Given the description of an element on the screen output the (x, y) to click on. 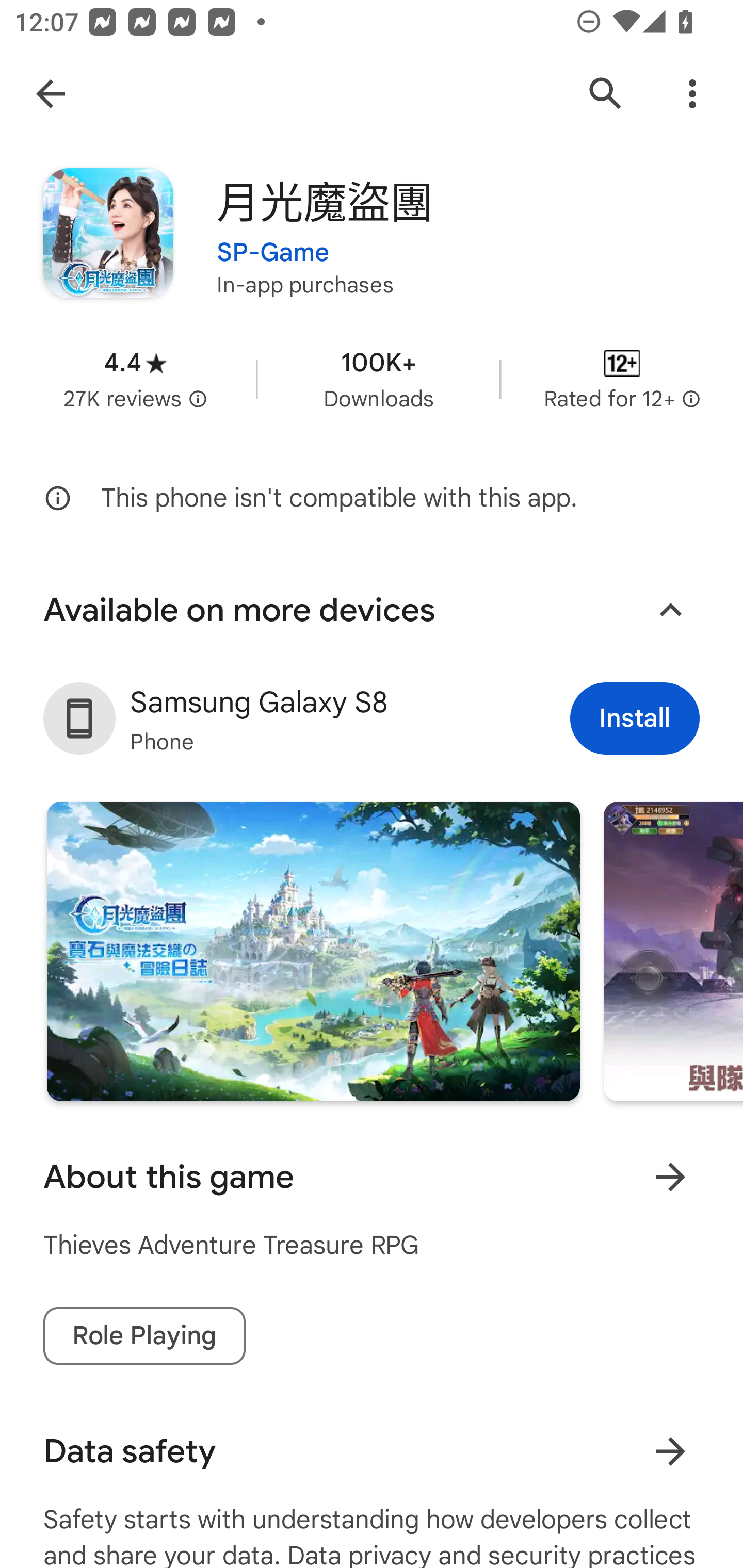
Navigate up (50, 93)
Search Google Play (605, 93)
More Options (692, 93)
SP-Game (272, 240)
Average rating 4.4 stars in 27 thousand reviews (135, 379)
Content rating Rated for 12+ (622, 379)
Available on more devices Collapse (371, 609)
Collapse (670, 610)
Install (634, 718)
Screenshot "1" of "6" (313, 950)
About this game Learn more About this game (371, 1176)
Learn more About this game (670, 1176)
Role Playing tag (144, 1335)
Data safety Learn more about data safety (371, 1451)
Learn more about data safety (670, 1451)
